Given the description of an element on the screen output the (x, y) to click on. 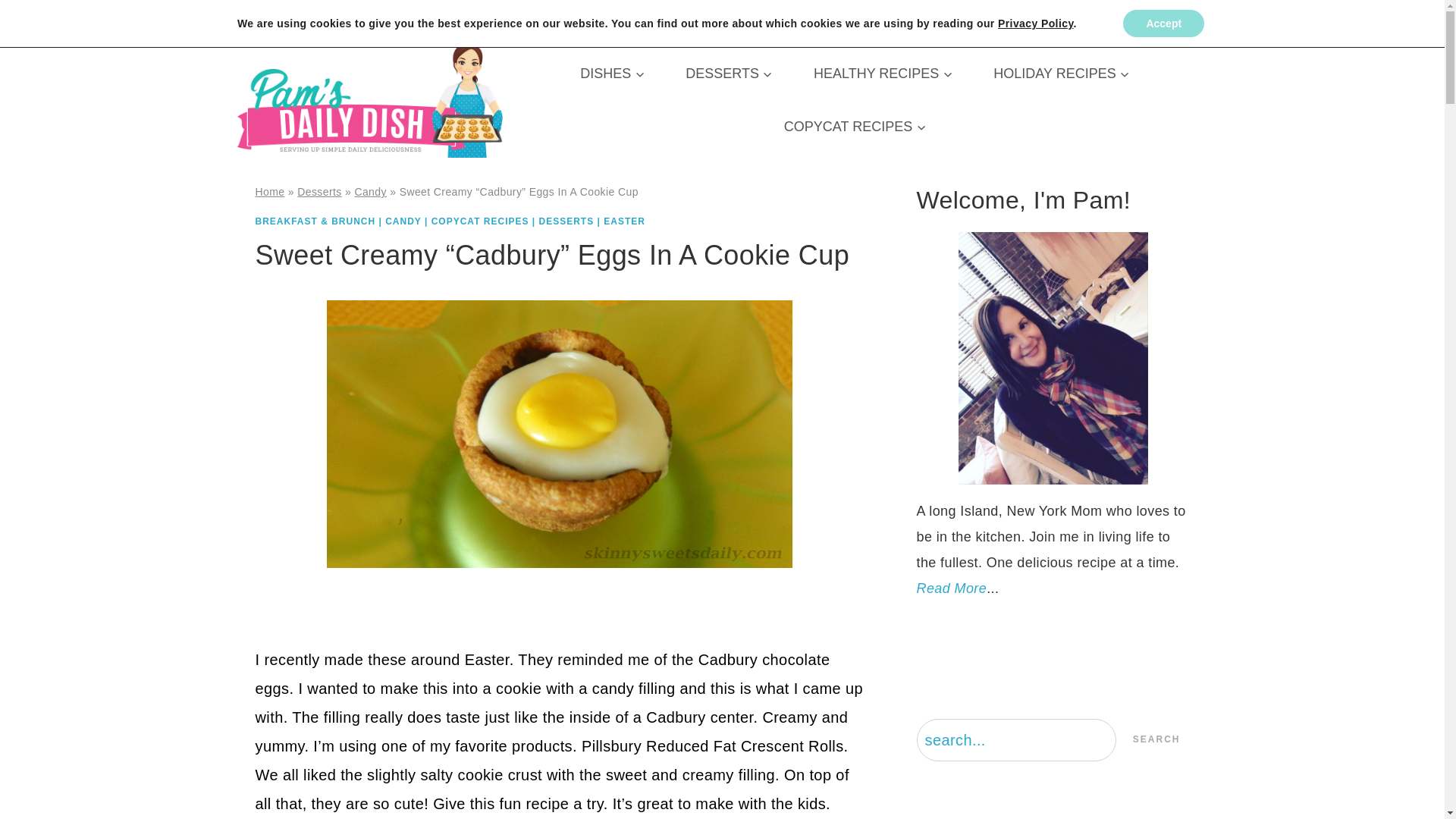
HOLIDAY RECIPES (1061, 72)
DISHES (612, 72)
DESSERTS (729, 72)
HEALTHY RECIPES (882, 72)
